Given the description of an element on the screen output the (x, y) to click on. 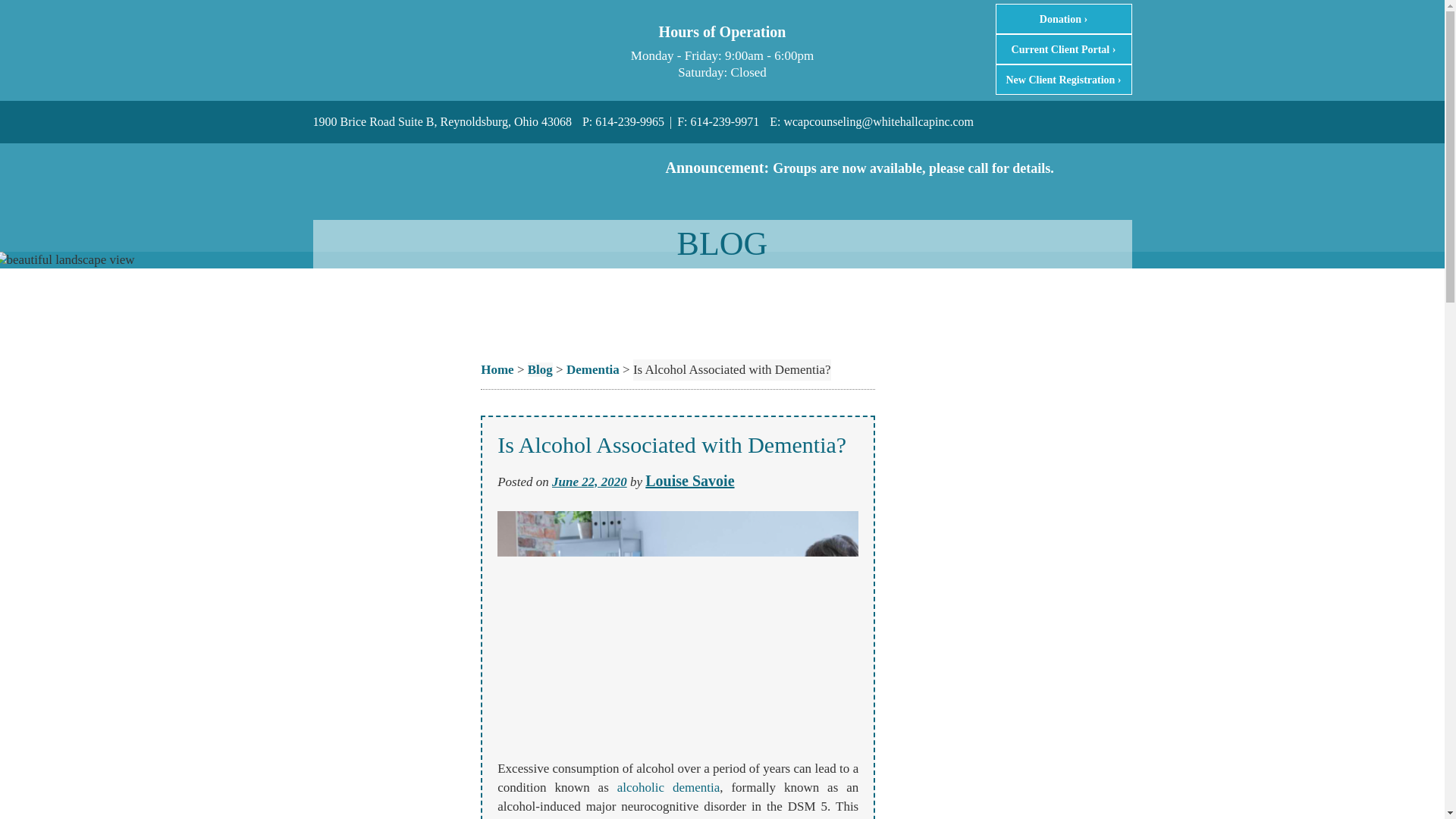
Go to Home (496, 369)
SERVICES (1023, 278)
ABOUT US (952, 278)
View all posts by Louise Savoie (689, 479)
alcoholic dementia (668, 787)
Dementia (593, 369)
Go to the Dementia category archives. (593, 369)
June 22, 2020 (589, 481)
INSURANCE AND RATES (1128, 278)
7:03 am (589, 481)
